Given the description of an element on the screen output the (x, y) to click on. 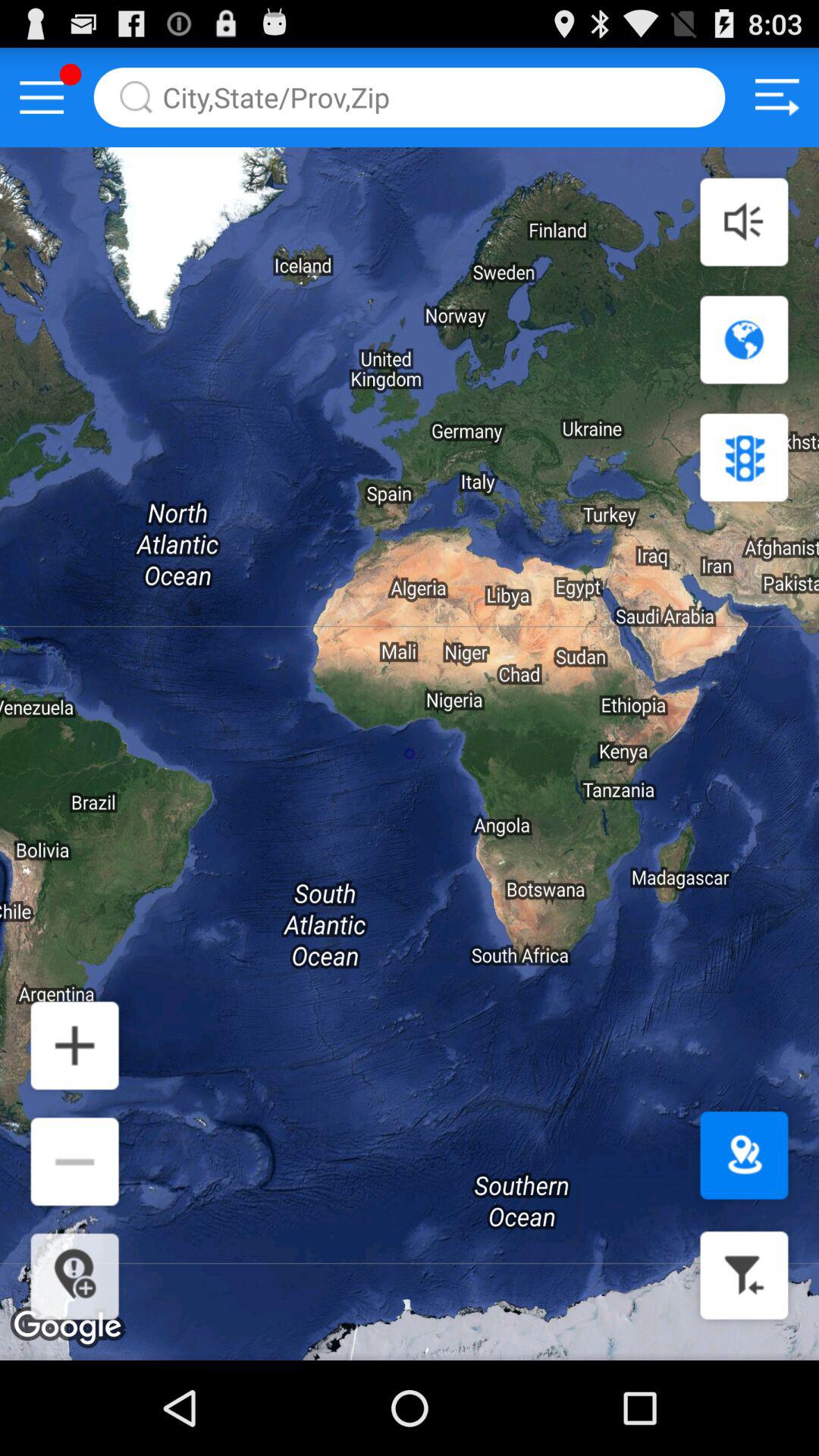
play audio (744, 221)
